Given the description of an element on the screen output the (x, y) to click on. 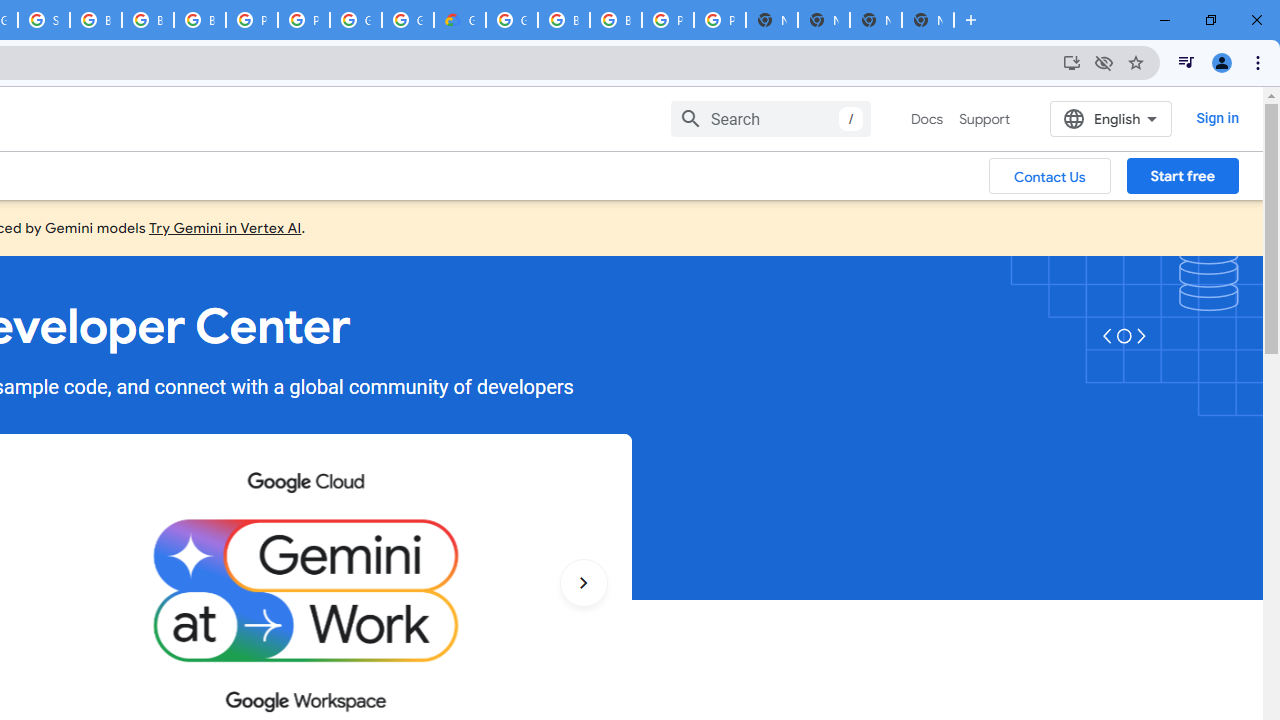
Google Cloud Estimate Summary (459, 20)
Browse Chrome as a guest - Computer - Google Chrome Help (147, 20)
Google Cloud Platform (407, 20)
Google Cloud Platform (355, 20)
Browse Chrome as a guest - Computer - Google Chrome Help (563, 20)
New Tab (927, 20)
Contact Us (1050, 175)
Google Cloud Platform (511, 20)
Docs (927, 119)
Support (984, 119)
